Given the description of an element on the screen output the (x, y) to click on. 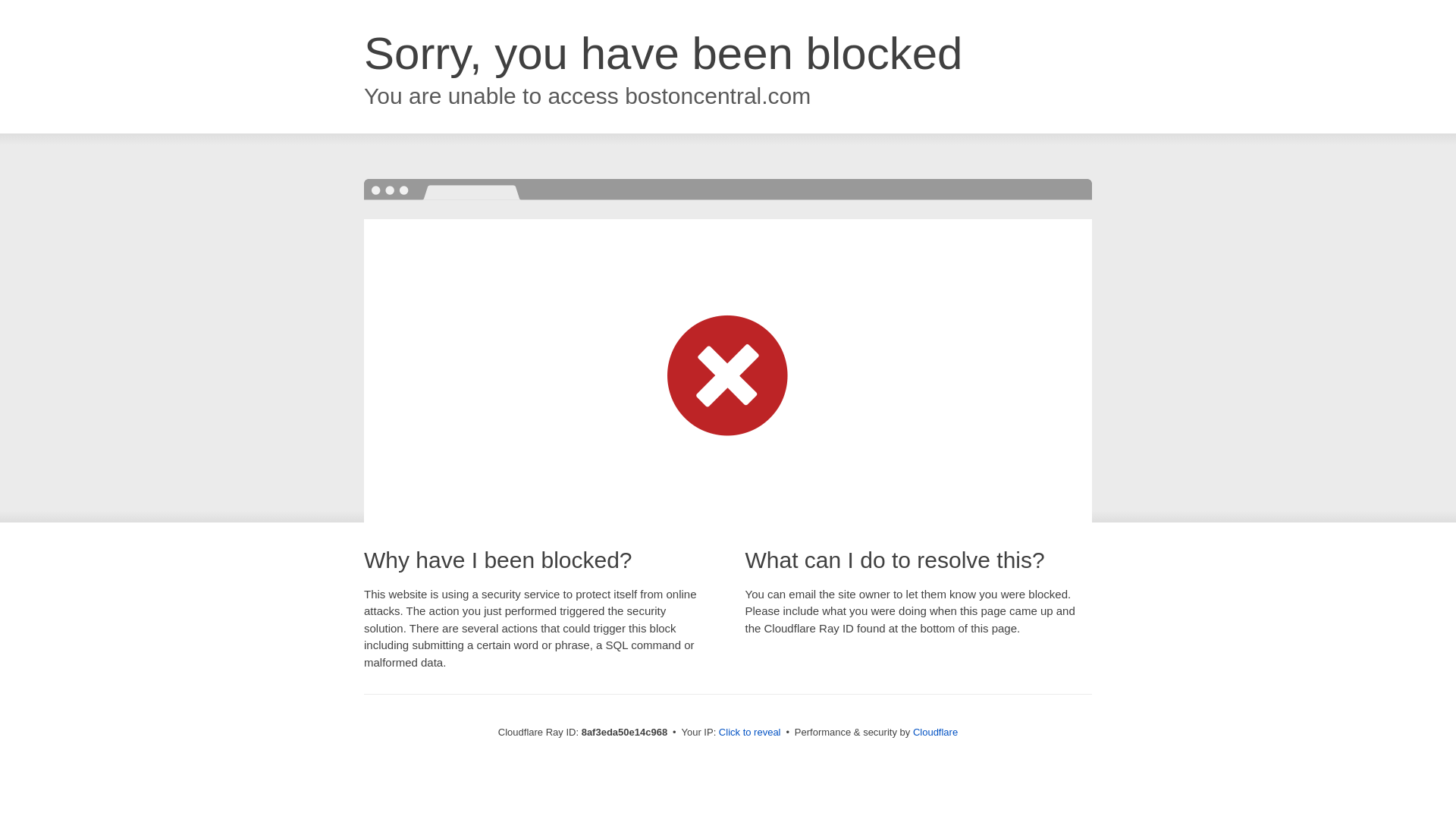
Click to reveal (749, 732)
Cloudflare (935, 731)
